Given the description of an element on the screen output the (x, y) to click on. 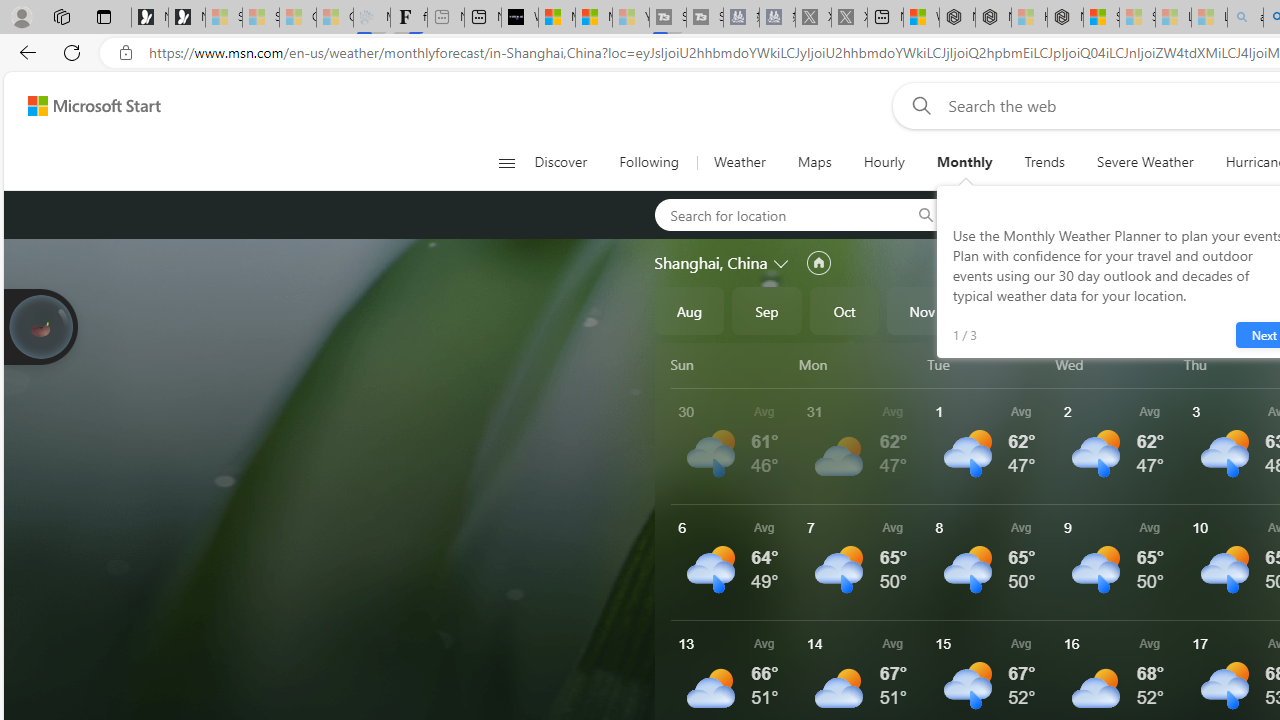
Aug (689, 310)
Following (648, 162)
2025 Jan (1077, 310)
Dec (1000, 310)
Weather (739, 162)
Mon (859, 363)
Mar (1233, 310)
Streaming Coverage | T3 - Sleeping (668, 17)
What's the best AI voice generator? - voice.ai (519, 17)
X - Sleeping (849, 17)
